Given the description of an element on the screen output the (x, y) to click on. 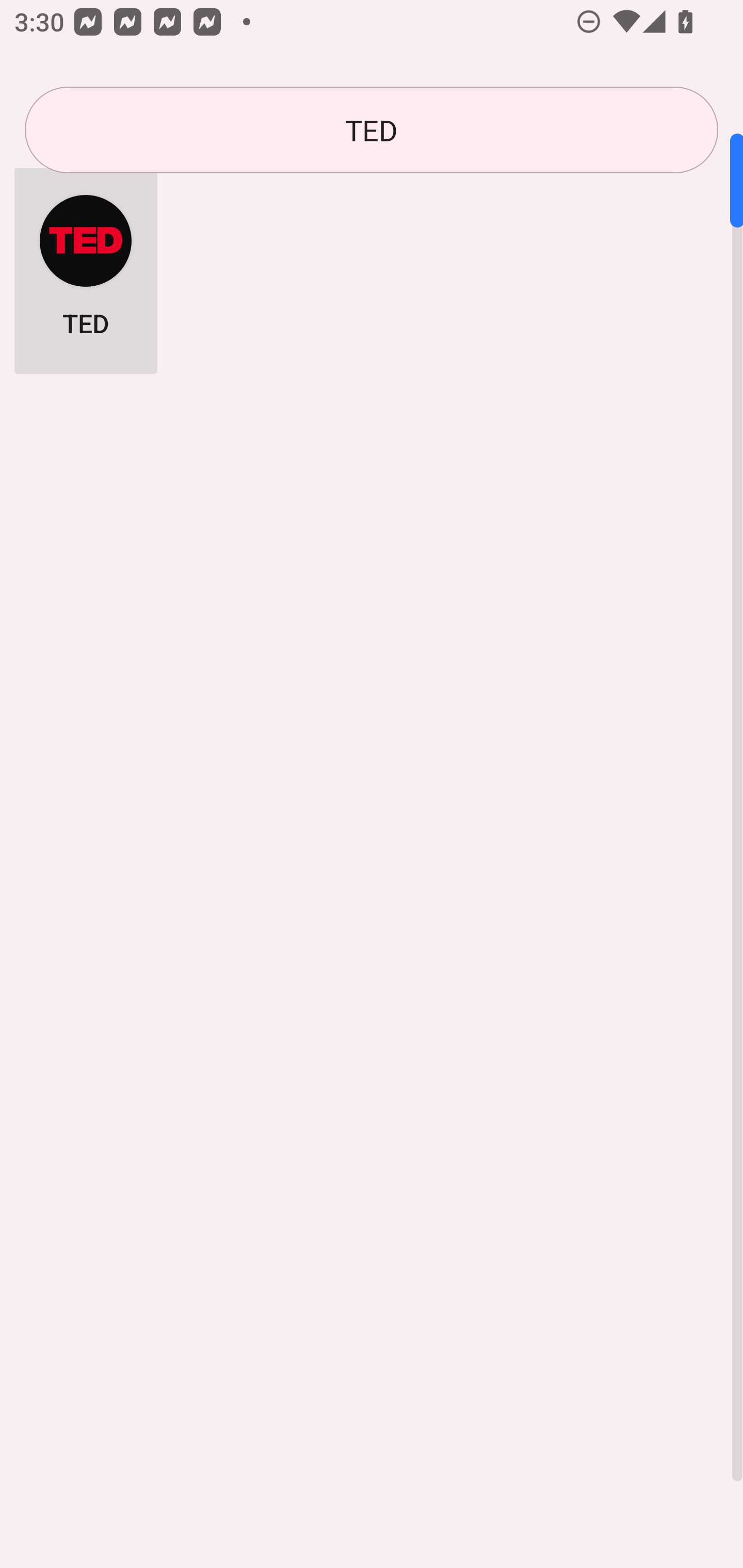
TED (371, 130)
TED (85, 264)
